Given the description of an element on the screen output the (x, y) to click on. 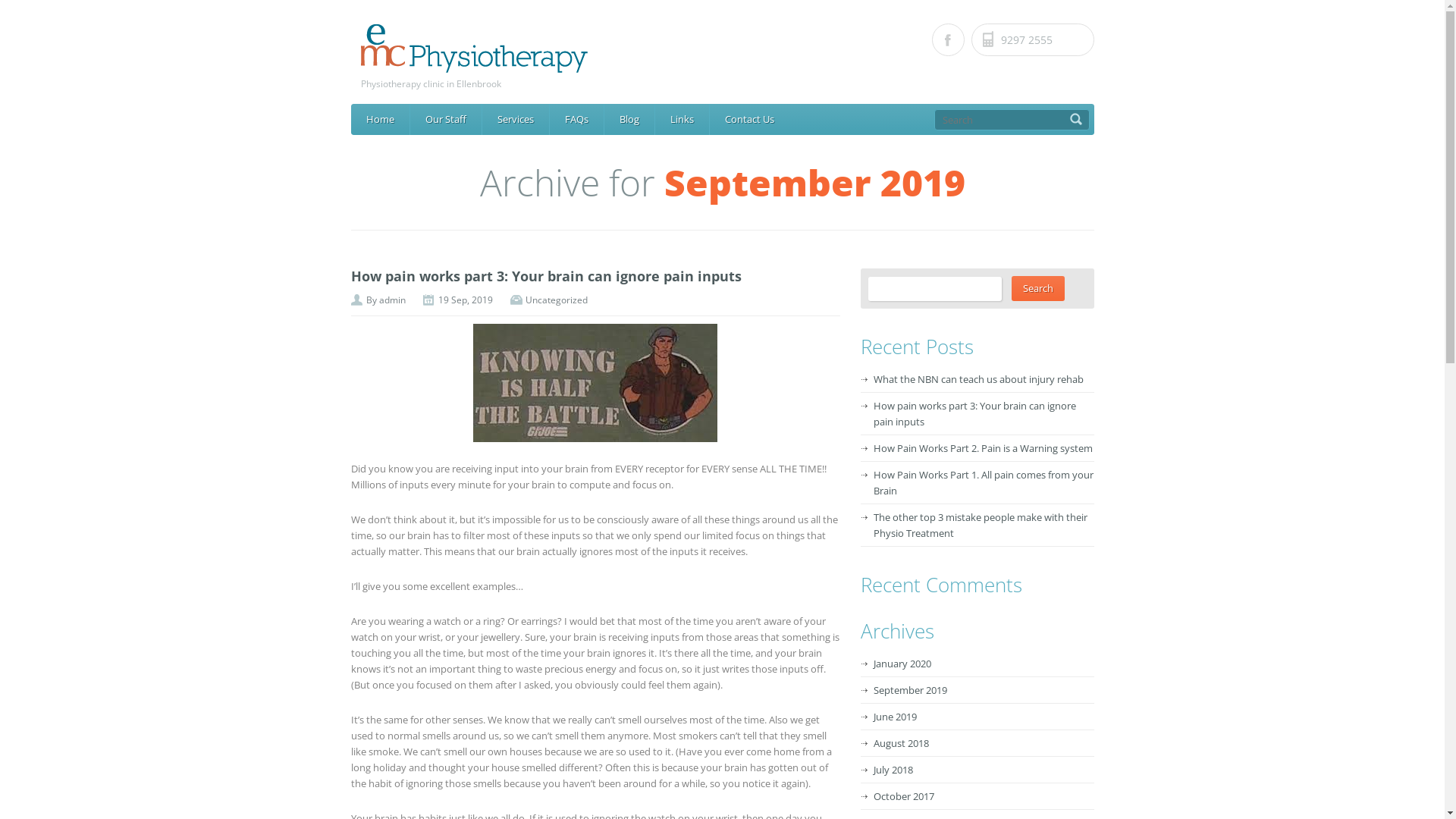
September 2019 Element type: text (910, 689)
admin Element type: text (392, 299)
Links Element type: text (682, 118)
Search Element type: text (1037, 288)
Our Staff Element type: text (444, 118)
August 2018 Element type: text (900, 742)
Home Element type: text (379, 118)
Physiotherapy clinic in Ellenbrook Element type: text (727, 57)
Services Element type: text (515, 118)
Contact Us Element type: text (749, 118)
How pain works part 3: Your brain can ignore pain inputs Element type: text (974, 413)
How Pain Works Part 1. All pain comes from your Brain Element type: text (983, 482)
July 2018 Element type: text (893, 769)
January 2020 Element type: text (902, 663)
How Pain Works Part 2. Pain is a Warning system Element type: text (982, 448)
How pain works part 3: Your brain can ignore pain inputs Element type: text (545, 275)
Uncategorized Element type: text (555, 299)
What the NBN can teach us about injury rehab Element type: text (978, 378)
Blog Element type: text (628, 118)
June 2019 Element type: text (894, 716)
October 2017 Element type: text (903, 796)
FAQs Element type: text (575, 118)
